Given the description of an element on the screen output the (x, y) to click on. 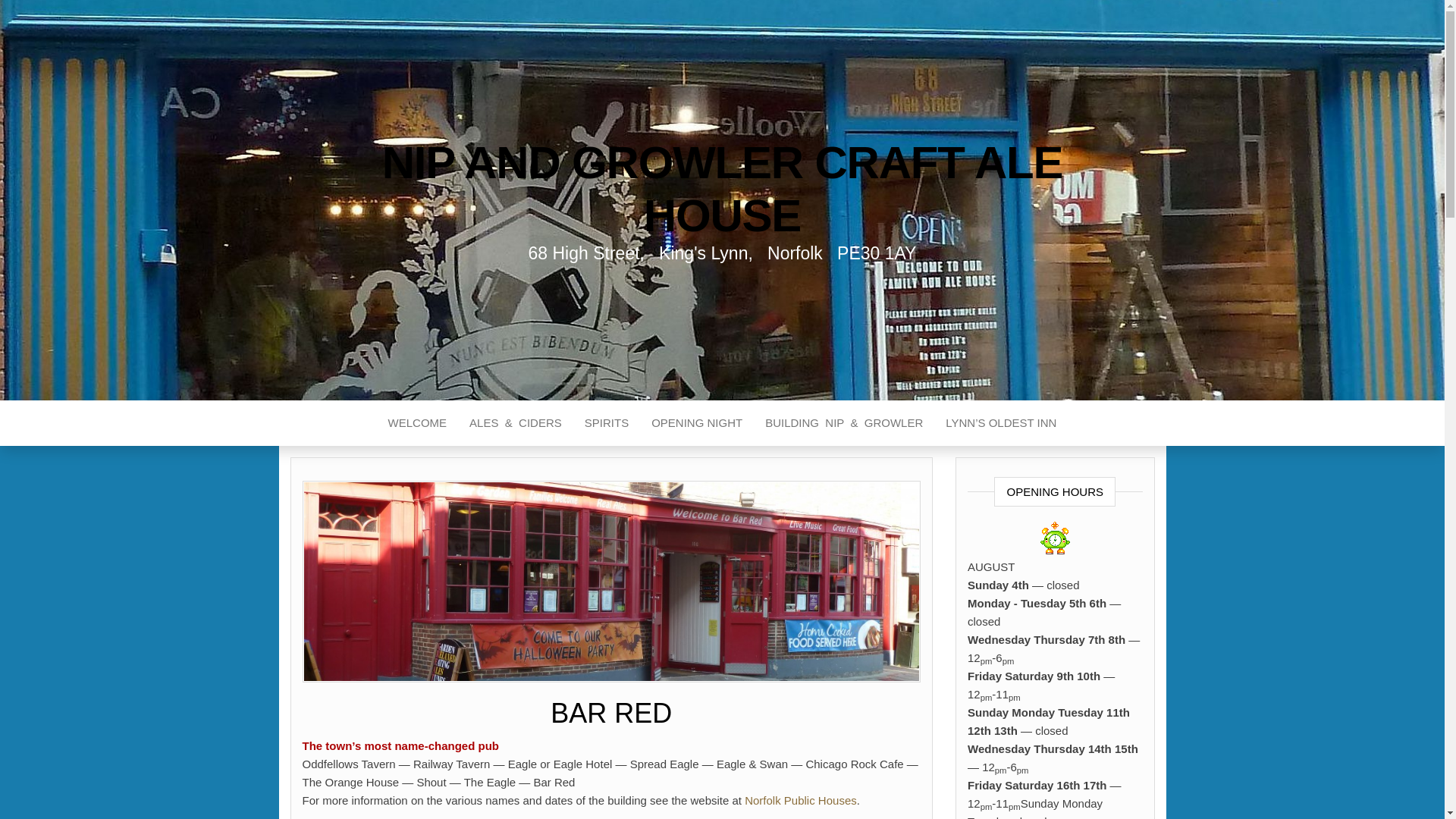
Norfolk Public Houses (800, 799)
WELCOME (417, 422)
NIP AND GROWLER CRAFT ALE HOUSE (721, 188)
LYNN'S OLDEST INN (1000, 422)
WELCOME (417, 422)
OPENING NIGHT (697, 422)
SPIRITS (606, 422)
SPIRITS (606, 422)
OPENING NIGHT (697, 422)
